Given the description of an element on the screen output the (x, y) to click on. 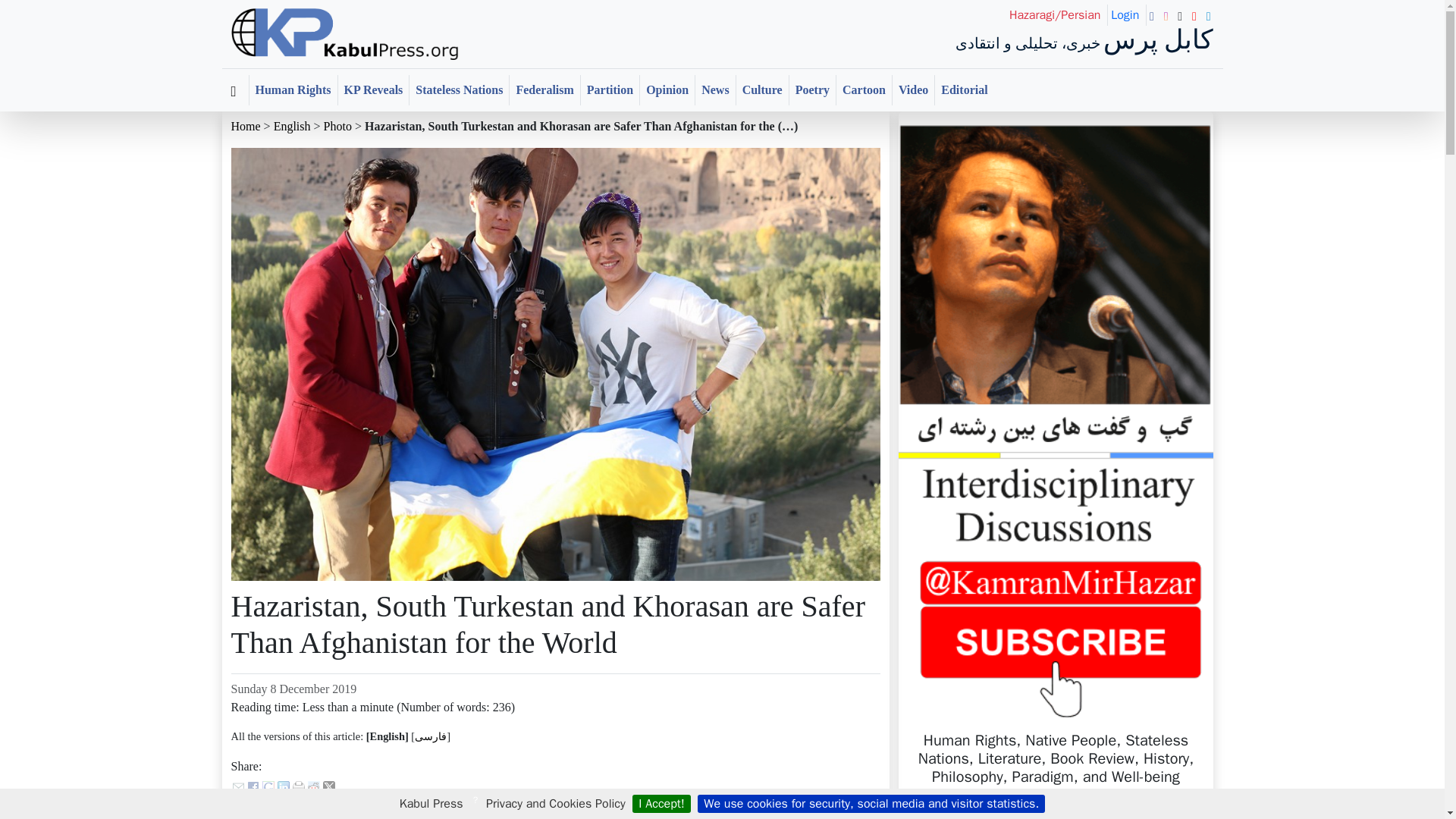
Culture (762, 90)
Poetry (812, 90)
KP Reveals (373, 90)
Partition (609, 90)
I Accept! (660, 803)
Photo (337, 125)
English (292, 125)
Facebook (253, 785)
Google bookmarks (268, 785)
Stateless Nations (458, 90)
